Given the description of an element on the screen output the (x, y) to click on. 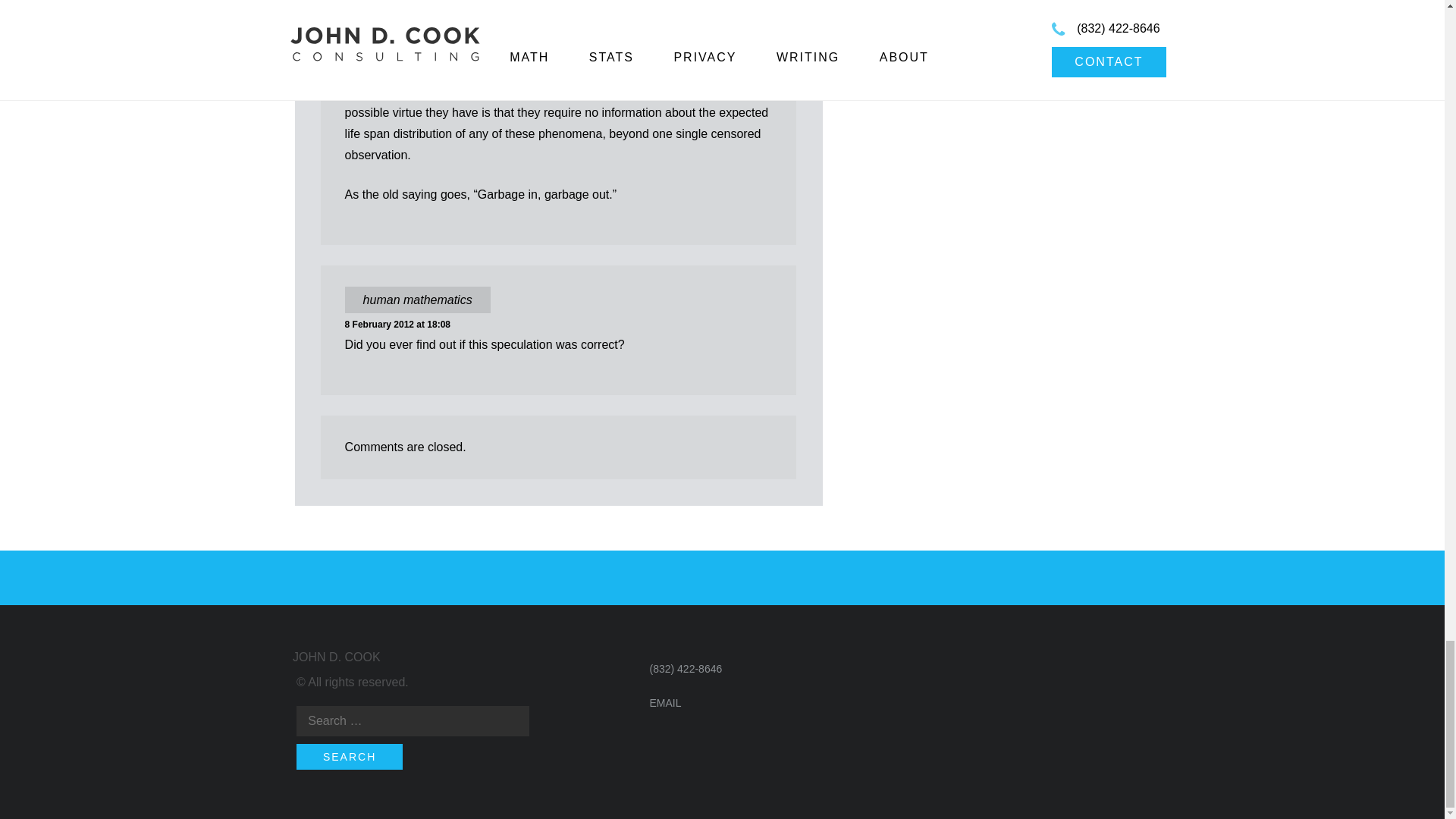
Search (350, 756)
Search (350, 756)
Search for: (413, 720)
